Given the description of an element on the screen output the (x, y) to click on. 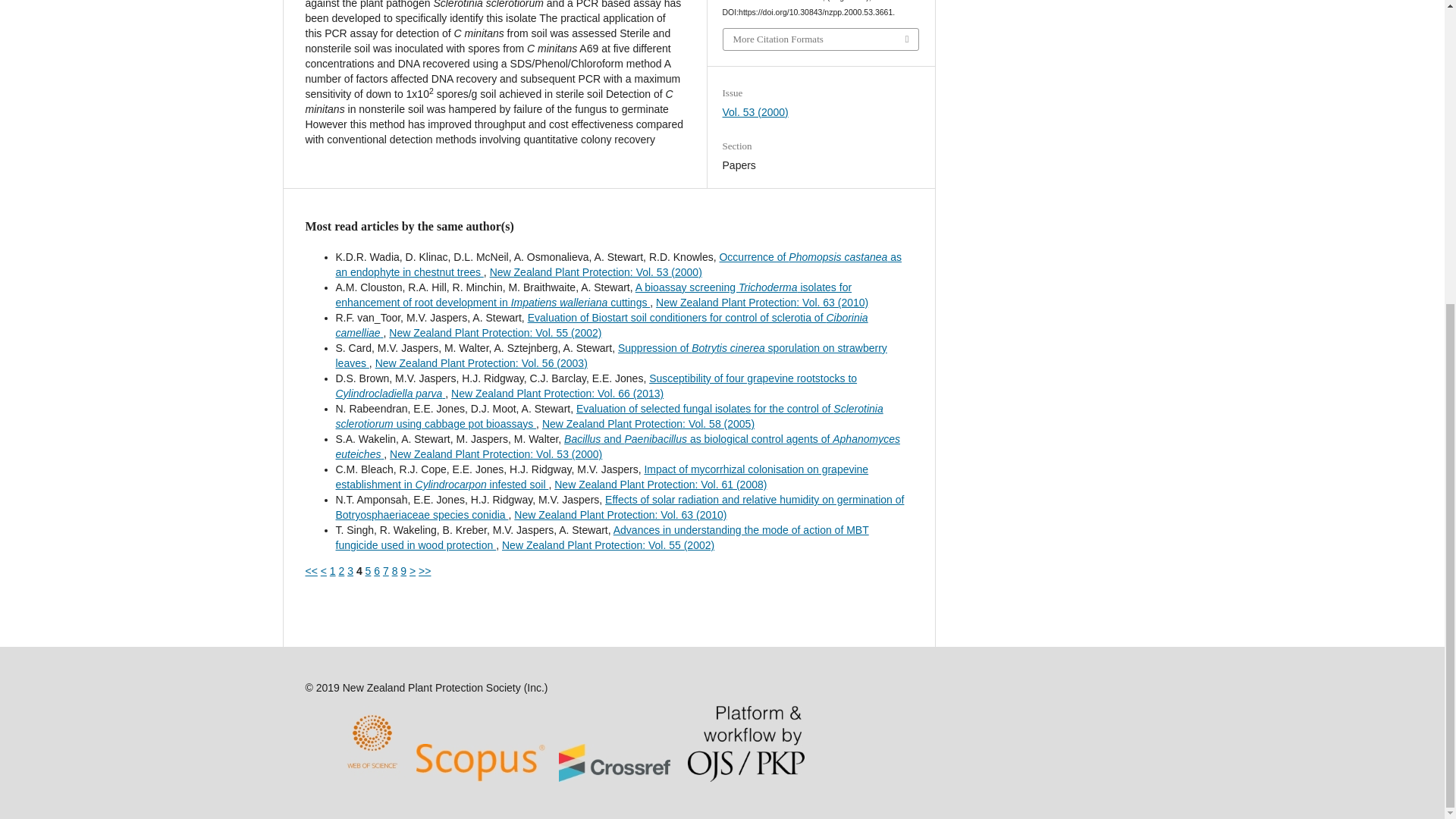
More Citation Formats (820, 38)
